Given the description of an element on the screen output the (x, y) to click on. 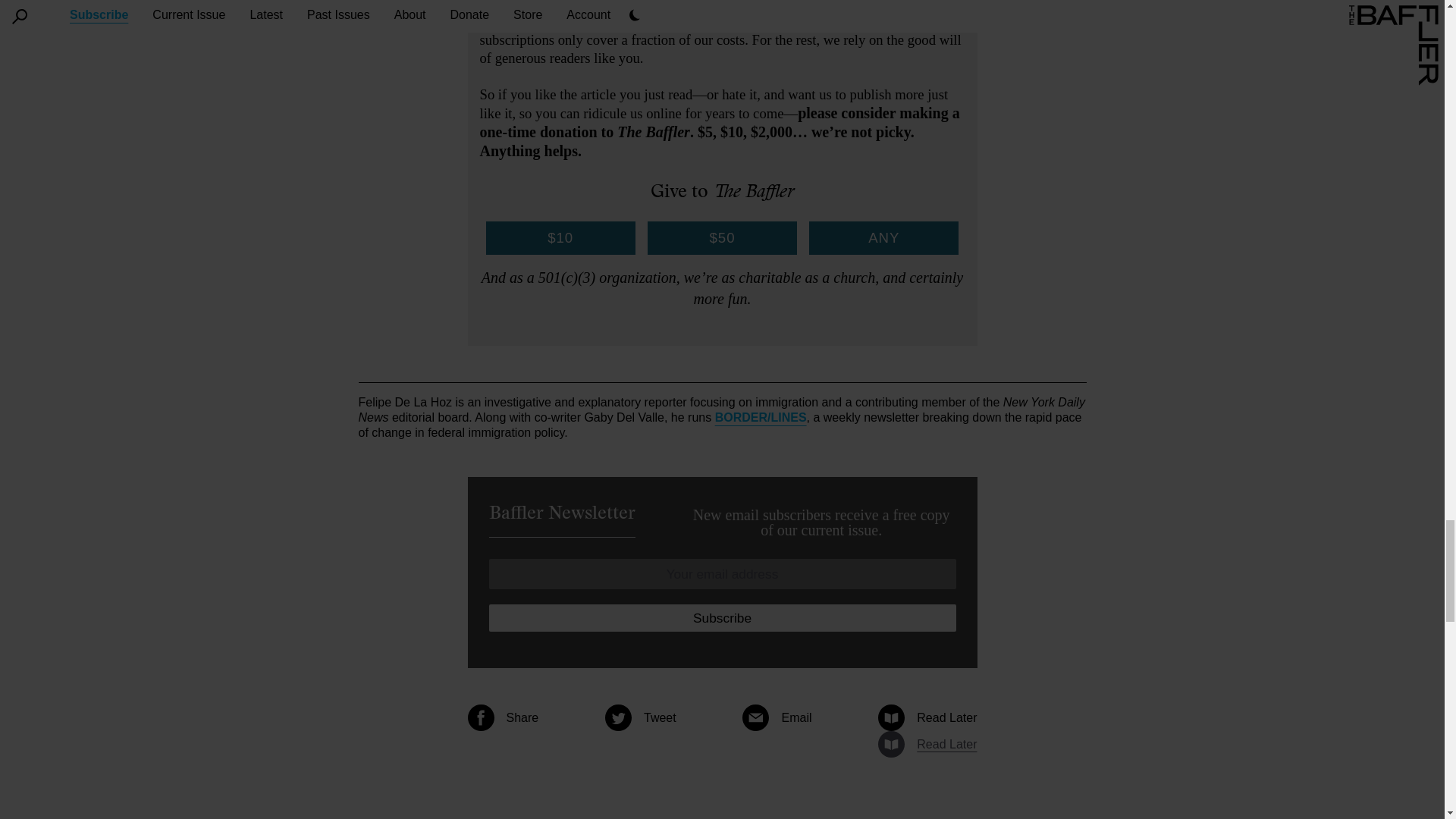
Subscribe (721, 617)
